Given the description of an element on the screen output the (x, y) to click on. 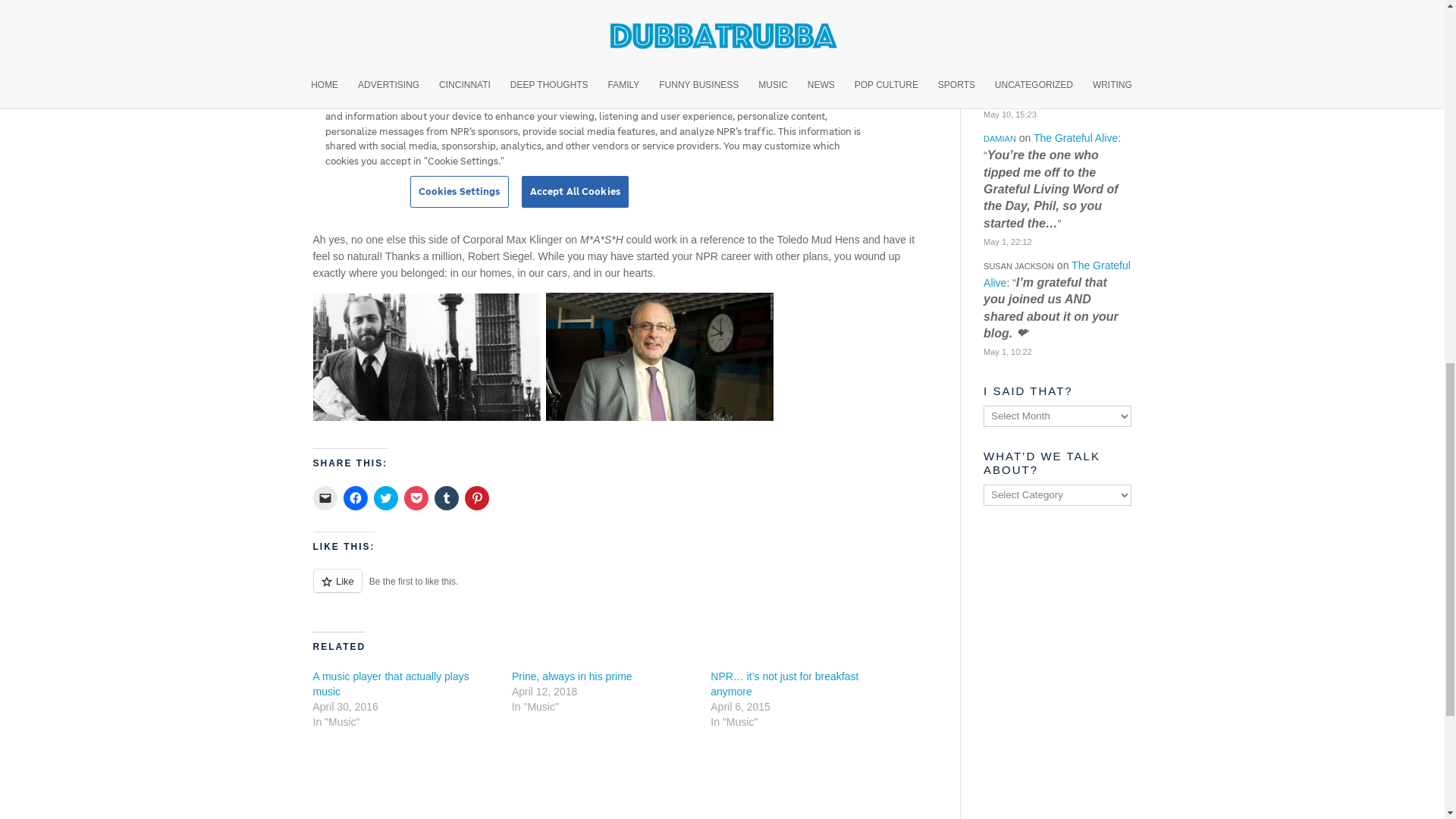
Like or Reblog (614, 589)
Click to share on Twitter (384, 498)
Prine, always in his prime (571, 676)
A music player that actually plays music (390, 683)
A music player that actually plays music (390, 683)
Click to share on Facebook (354, 498)
Click to share on Pinterest (475, 498)
Click to email a link to a friend (324, 498)
Click to share on Tumblr (445, 498)
Click to share on Pocket (415, 498)
NPR embedded audio player (614, 107)
